Given the description of an element on the screen output the (x, y) to click on. 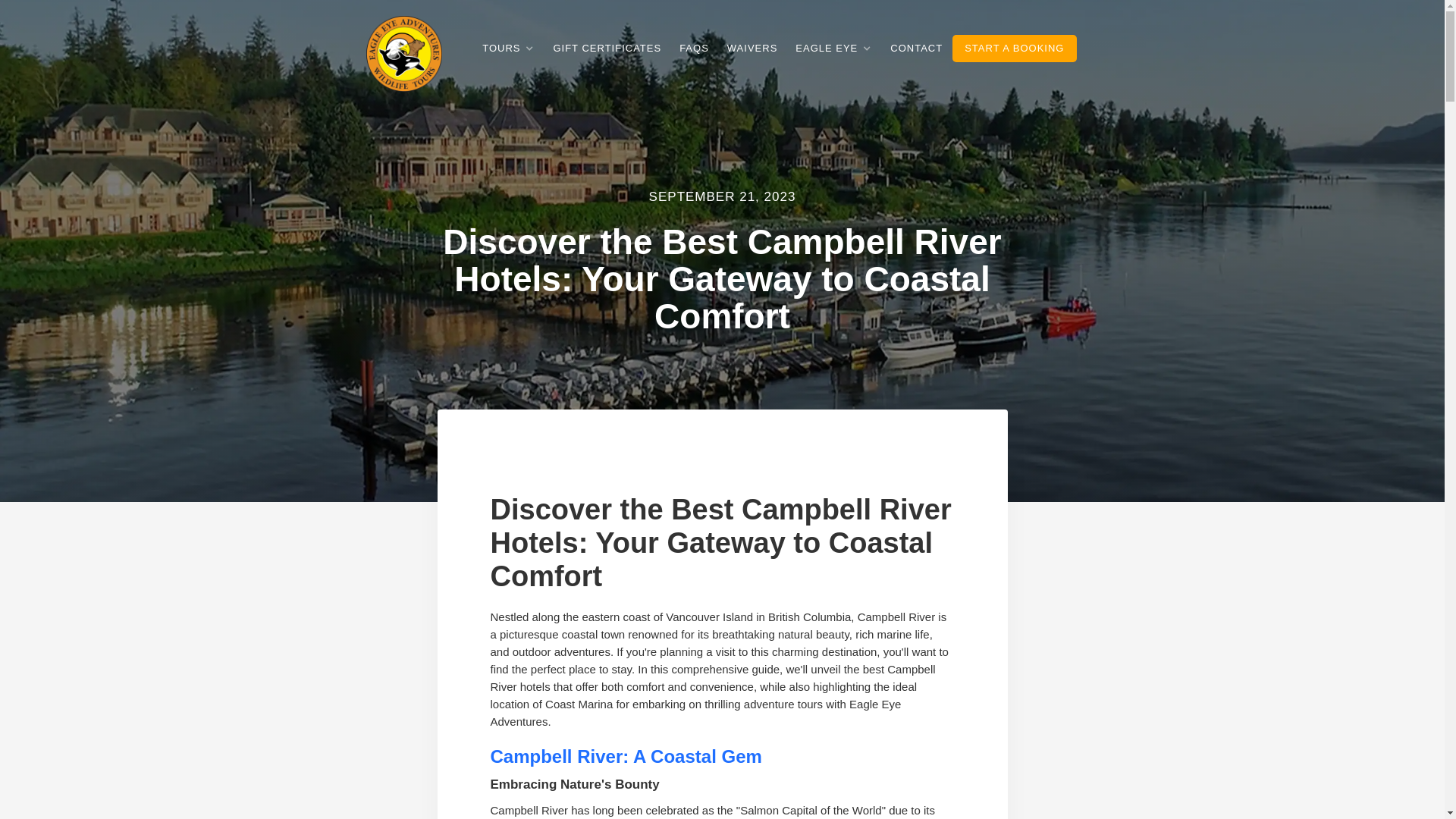
FAQS (694, 48)
WAIVERS (752, 48)
GIFT CERTIFICATES (606, 48)
CONTACT (916, 48)
START A BOOKING (1013, 48)
